Given the description of an element on the screen output the (x, y) to click on. 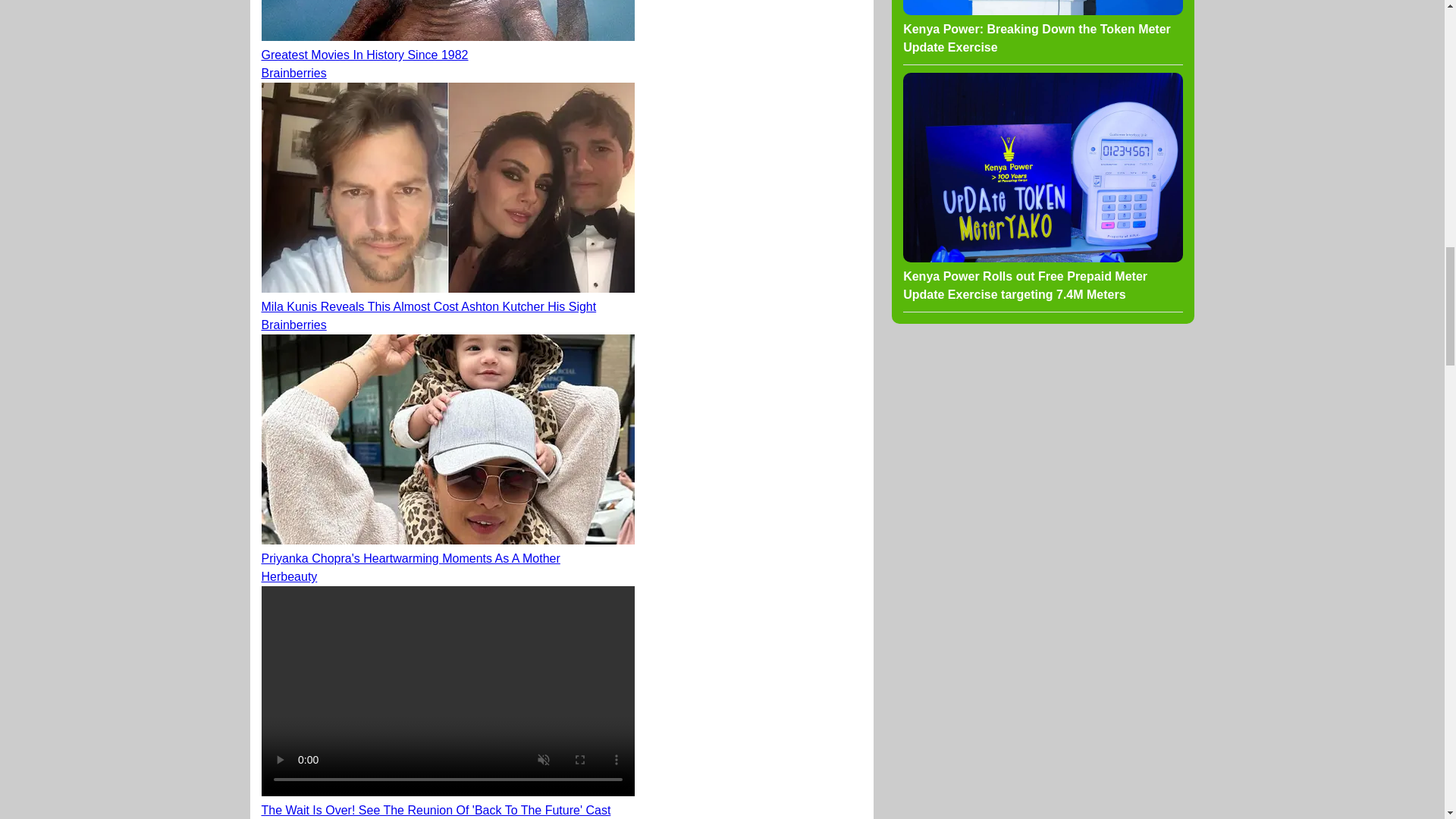
Kenya Power: Breaking Down the Token Meter Update Exercise (1042, 28)
